Given the description of an element on the screen output the (x, y) to click on. 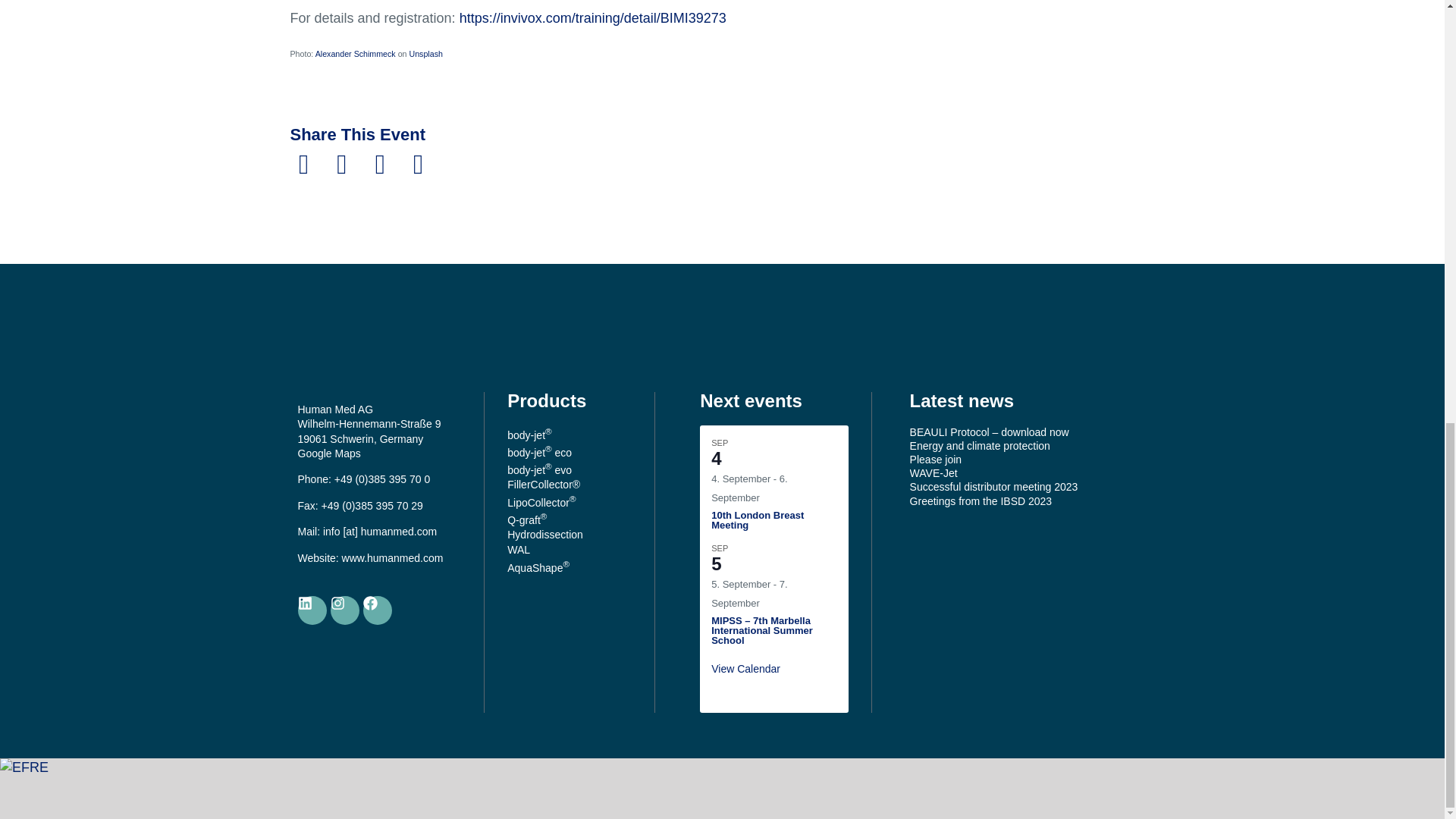
Twitter (342, 164)
View more events. (745, 668)
WhatsApp (417, 164)
Email (379, 164)
10th London Breast Meeting (757, 519)
